Given the description of an element on the screen output the (x, y) to click on. 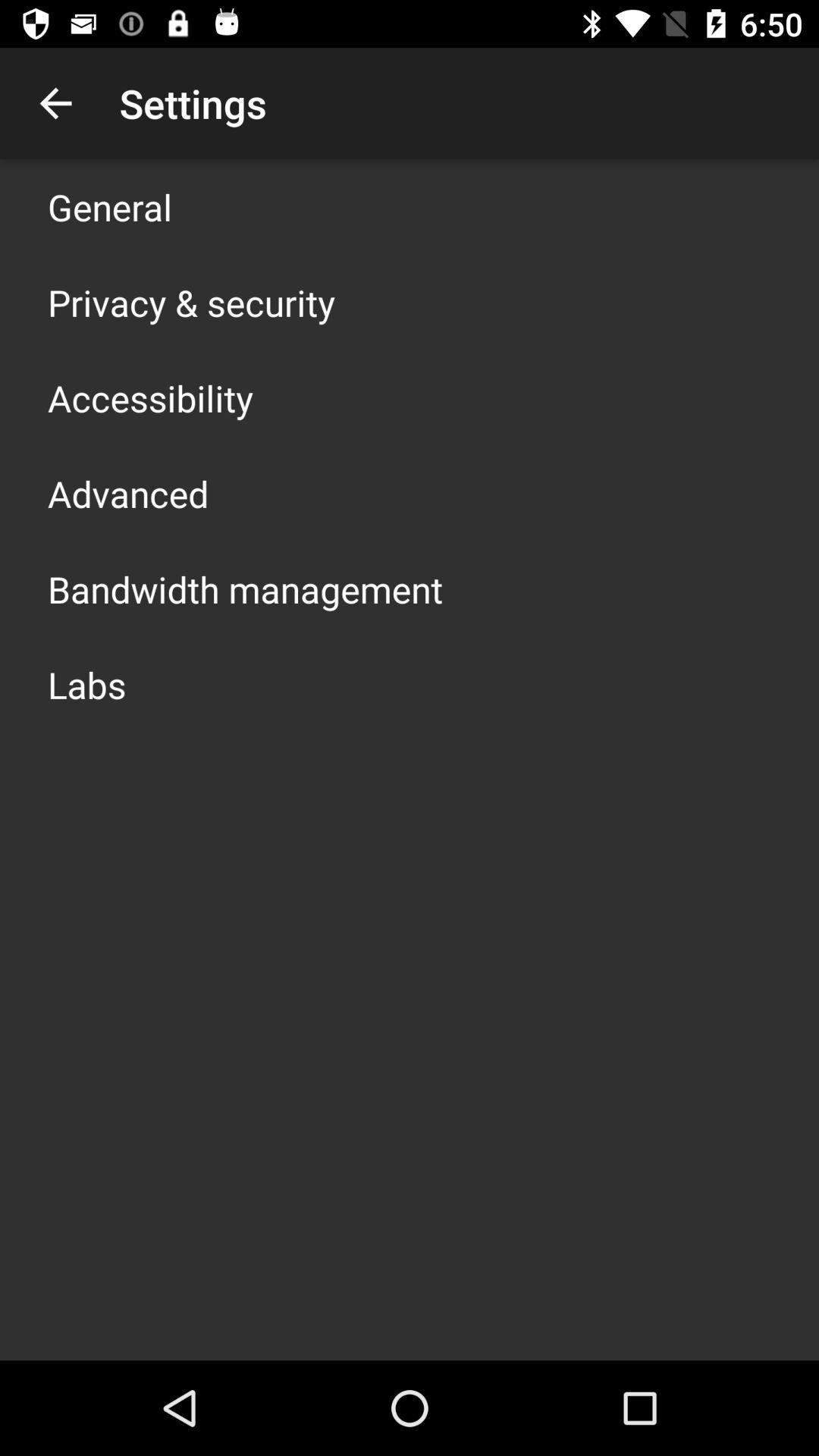
launch app below accessibility item (127, 493)
